Given the description of an element on the screen output the (x, y) to click on. 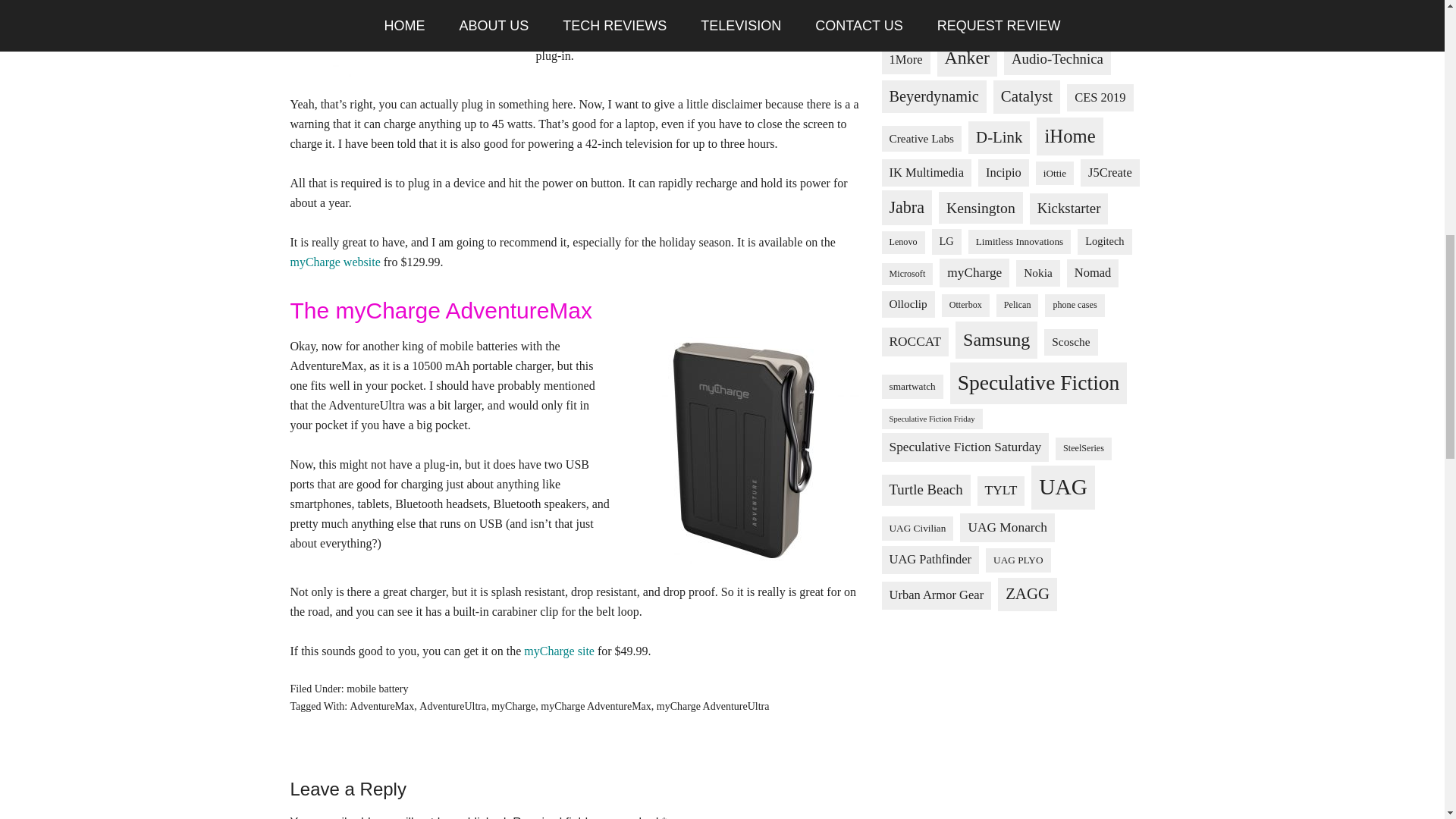
myCharge site (559, 650)
myCharge (513, 706)
myCharge website (334, 261)
myCharge AdventureUltra (713, 706)
myCharge AdventureMax (595, 706)
mobile battery (376, 688)
AdventureUltra (452, 706)
AdventureMax (382, 706)
